Given the description of an element on the screen output the (x, y) to click on. 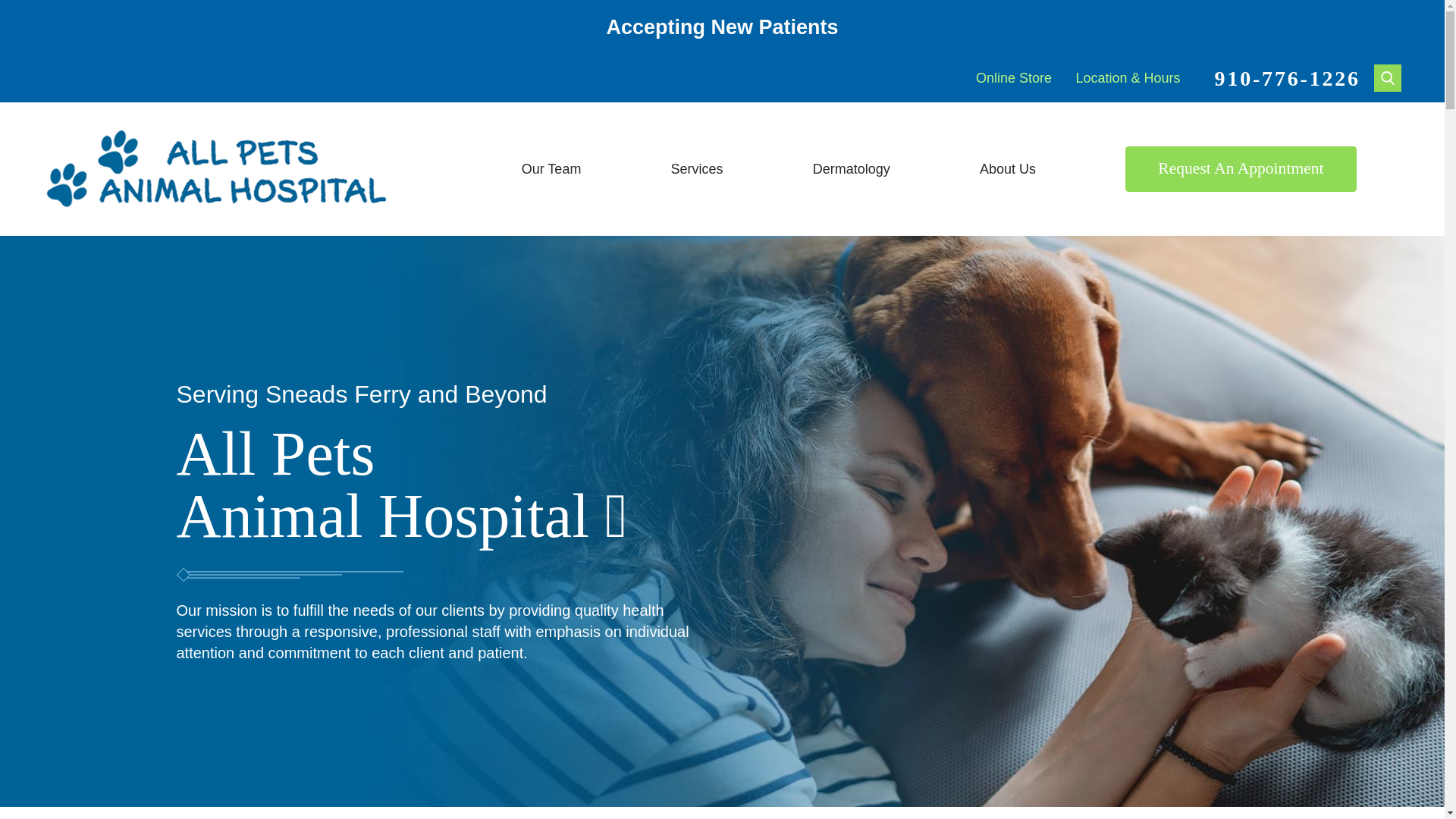
About Us (1007, 168)
Our Team (551, 168)
Online Store (1013, 77)
Request An Appointment (1240, 168)
Services (696, 168)
910-776-1226 (1286, 78)
All Pets Animal Hospital (216, 168)
Search Icon (1387, 78)
Dermatology (851, 168)
Search Our Site (1387, 77)
